Given the description of an element on the screen output the (x, y) to click on. 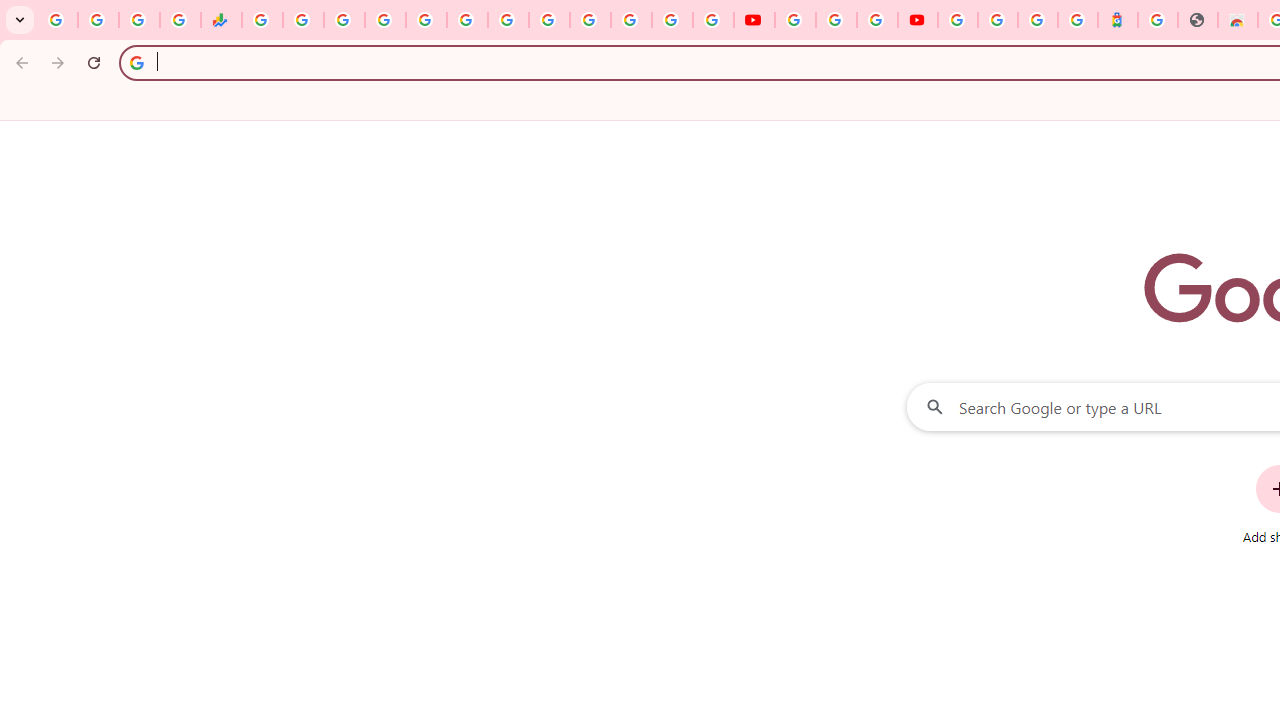
Create your Google Account (877, 20)
Google Workspace Admin Community (57, 20)
Sign in - Google Accounts (589, 20)
Sign in - Google Accounts (957, 20)
Google Account Help (836, 20)
YouTube (548, 20)
Privacy Checkup (712, 20)
